Given the description of an element on the screen output the (x, y) to click on. 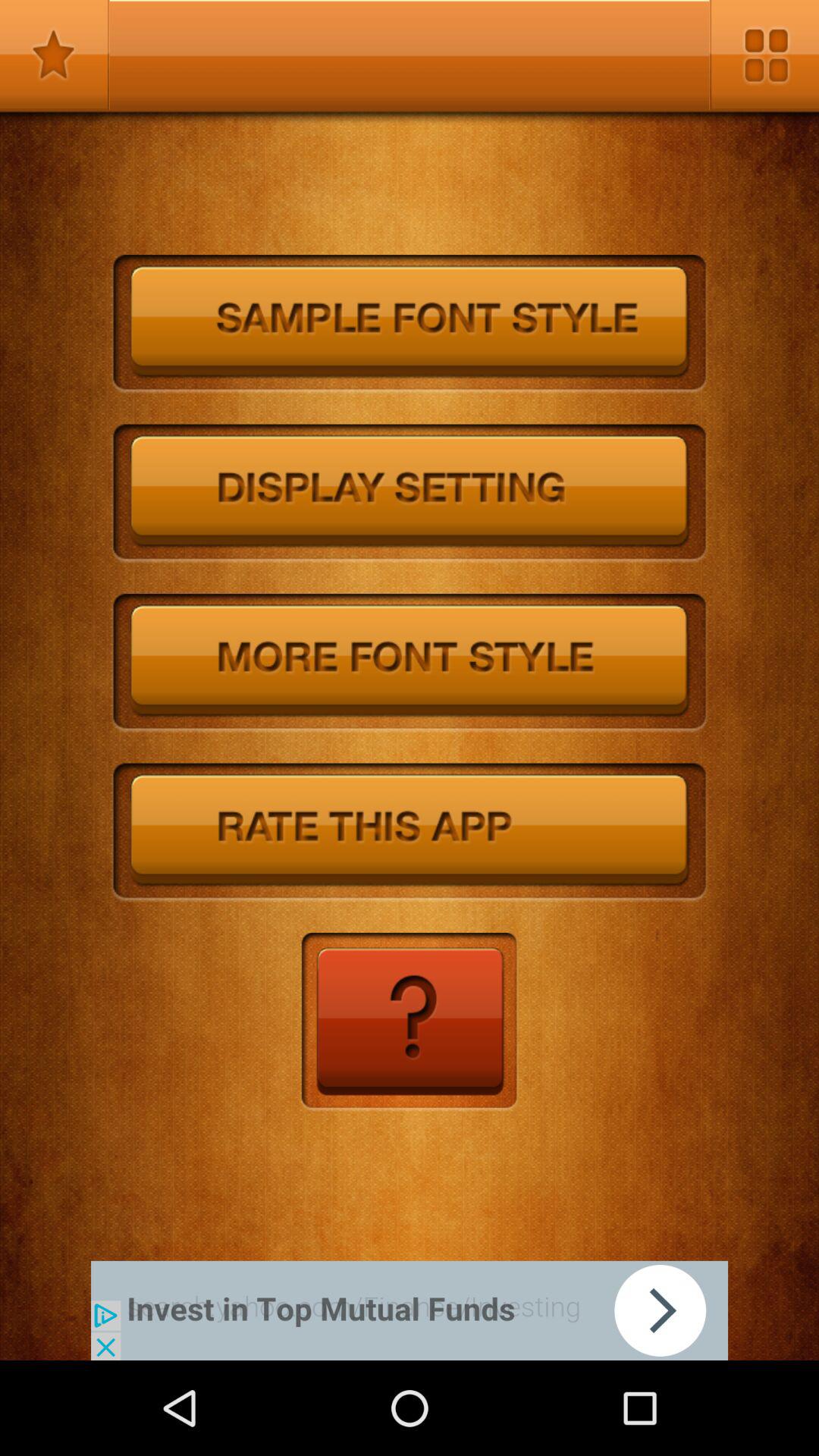
sample font style (409, 324)
